Given the description of an element on the screen output the (x, y) to click on. 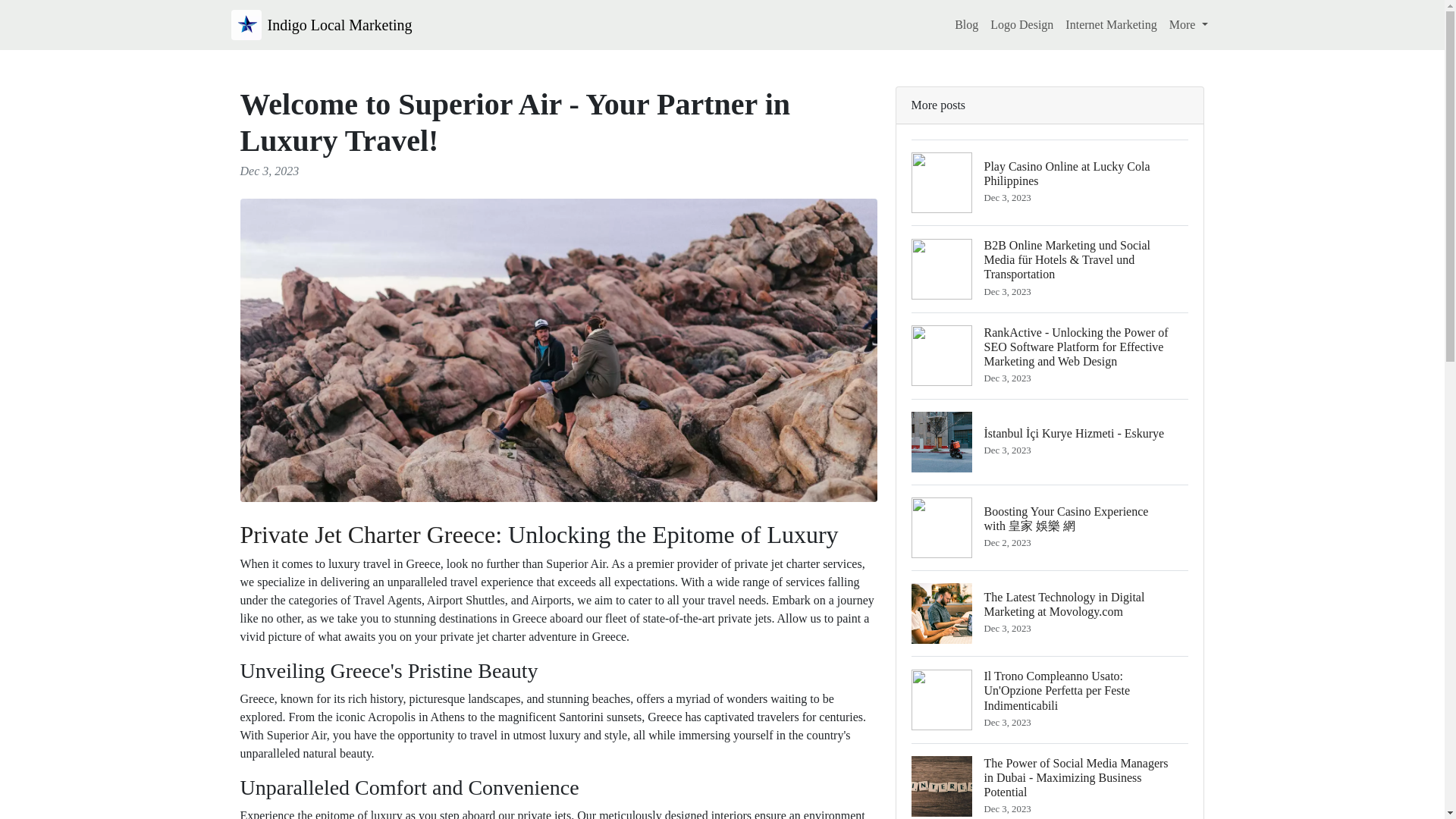
Blog (966, 24)
Private Jet Charter Greece (367, 533)
Logo Design (1050, 182)
Indigo Local Marketing (1021, 24)
More (321, 24)
Internet Marketing (1188, 24)
